Given the description of an element on the screen output the (x, y) to click on. 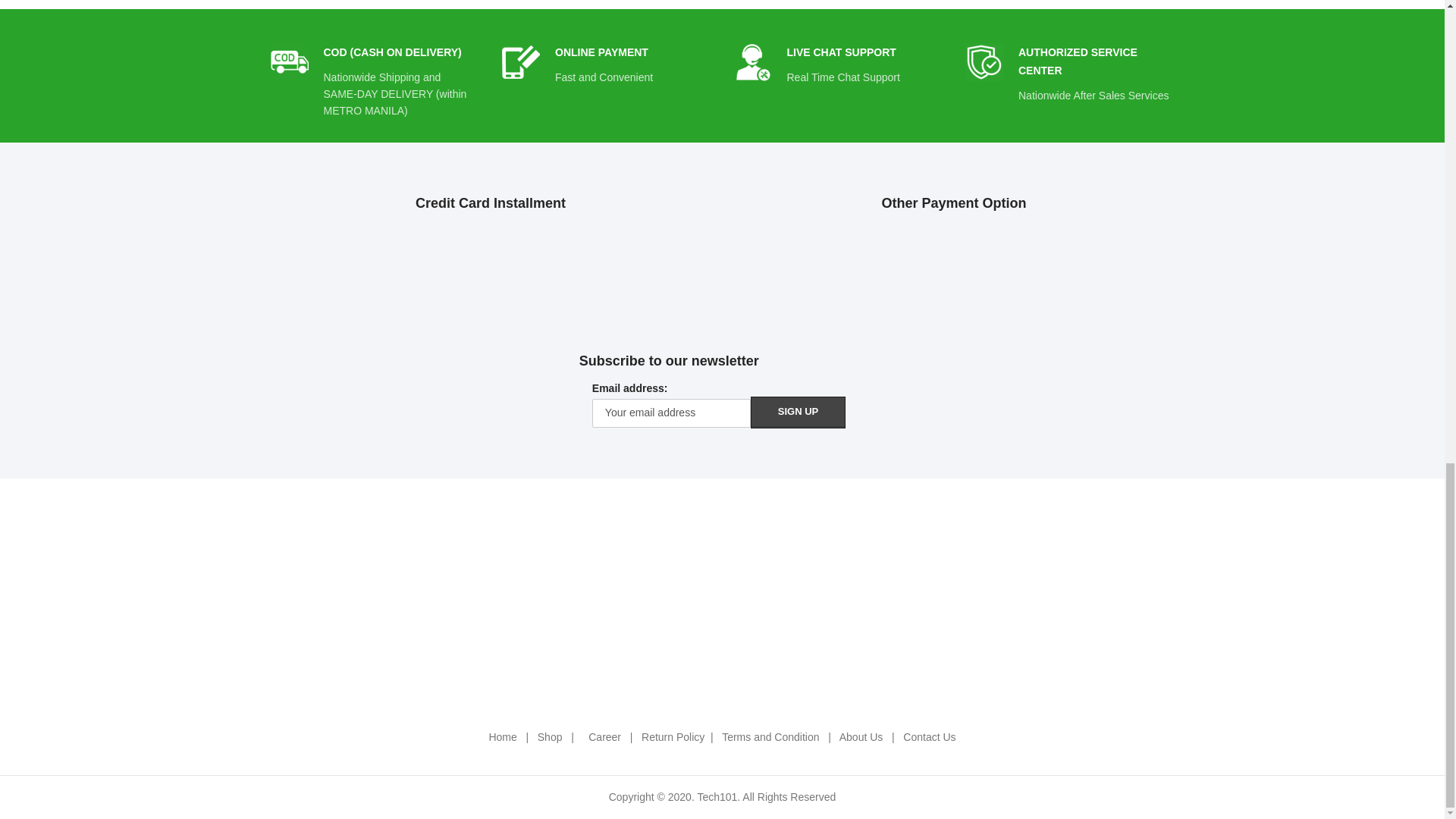
77 (984, 62)
76 (752, 62)
75 (521, 62)
cod-icon (288, 62)
Sign up (798, 412)
